Given the description of an element on the screen output the (x, y) to click on. 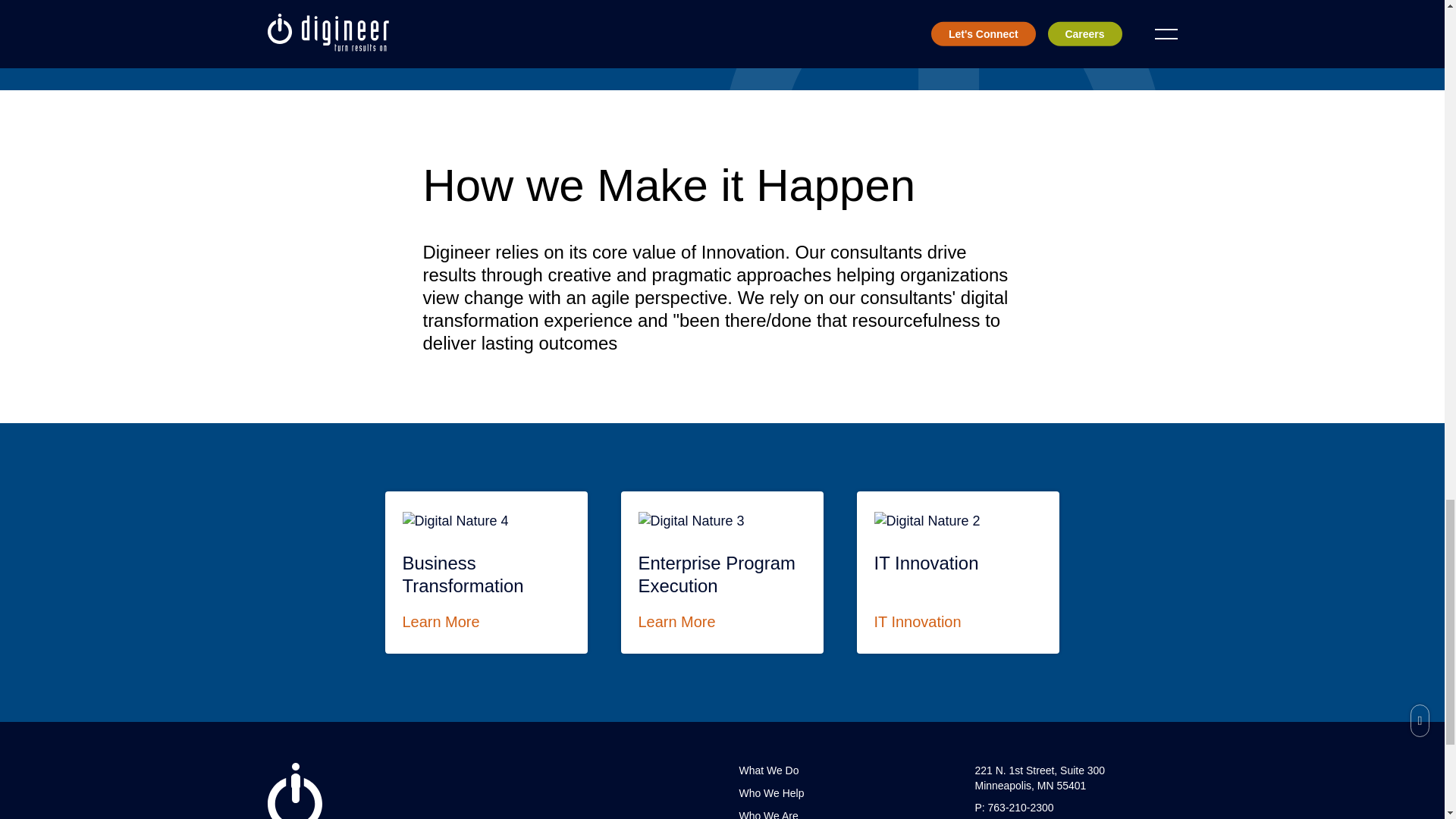
View Success Story (365, 11)
What We Do (767, 770)
Who We Help (770, 793)
Who We Are (958, 572)
